Given the description of an element on the screen output the (x, y) to click on. 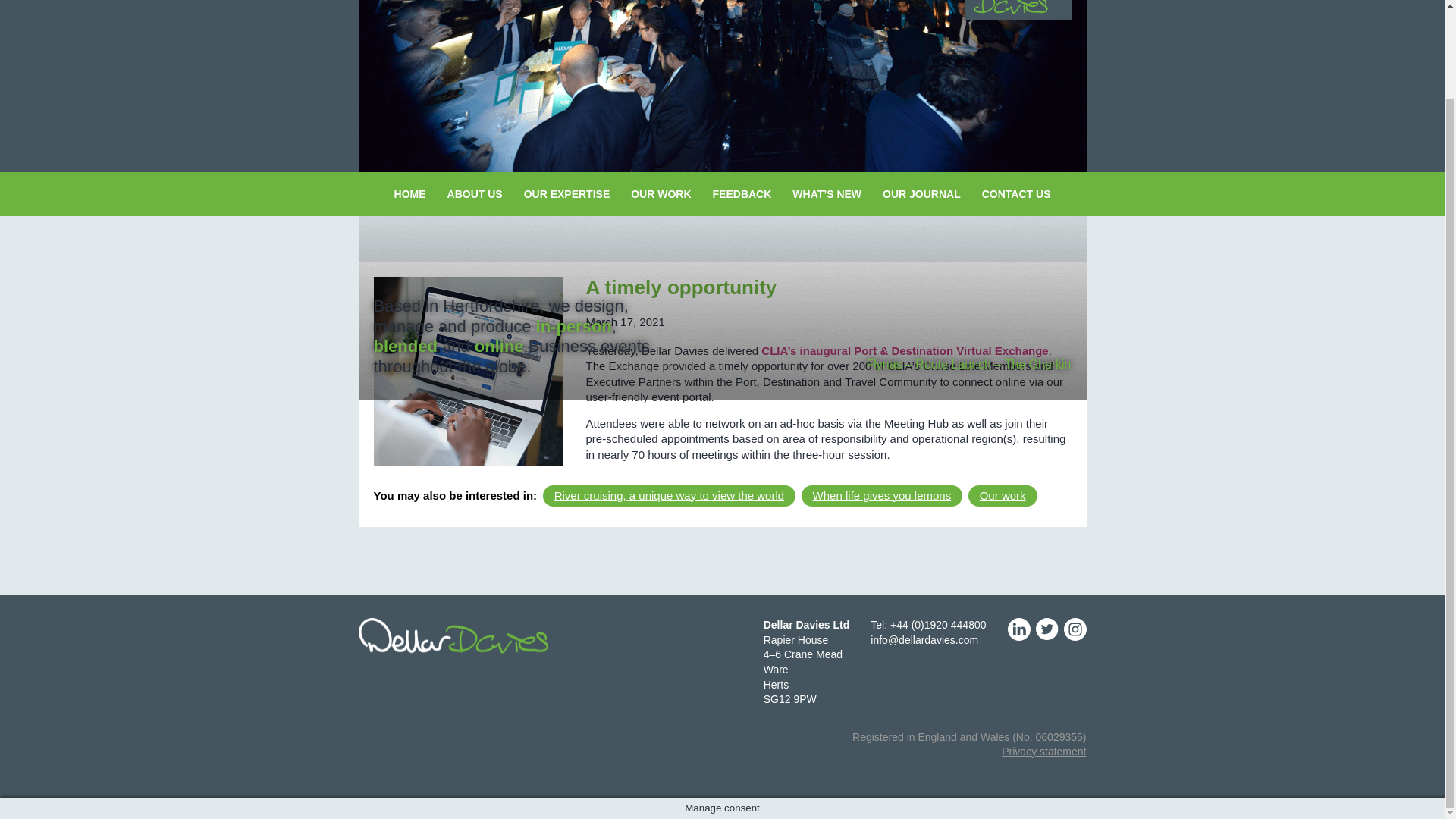
flynas-gherkin (722, 85)
ABOUT US (474, 193)
FEEDBACK (742, 193)
Privacy statement (1043, 751)
OUR WORK (660, 193)
OUR JOURNAL (921, 193)
When life gives you lemons (882, 495)
Our work (1002, 495)
CONTACT US (1016, 193)
HOME (410, 193)
River cruising, a unique way to view the world (669, 495)
OUR EXPERTISE (567, 193)
